Given the description of an element on the screen output the (x, y) to click on. 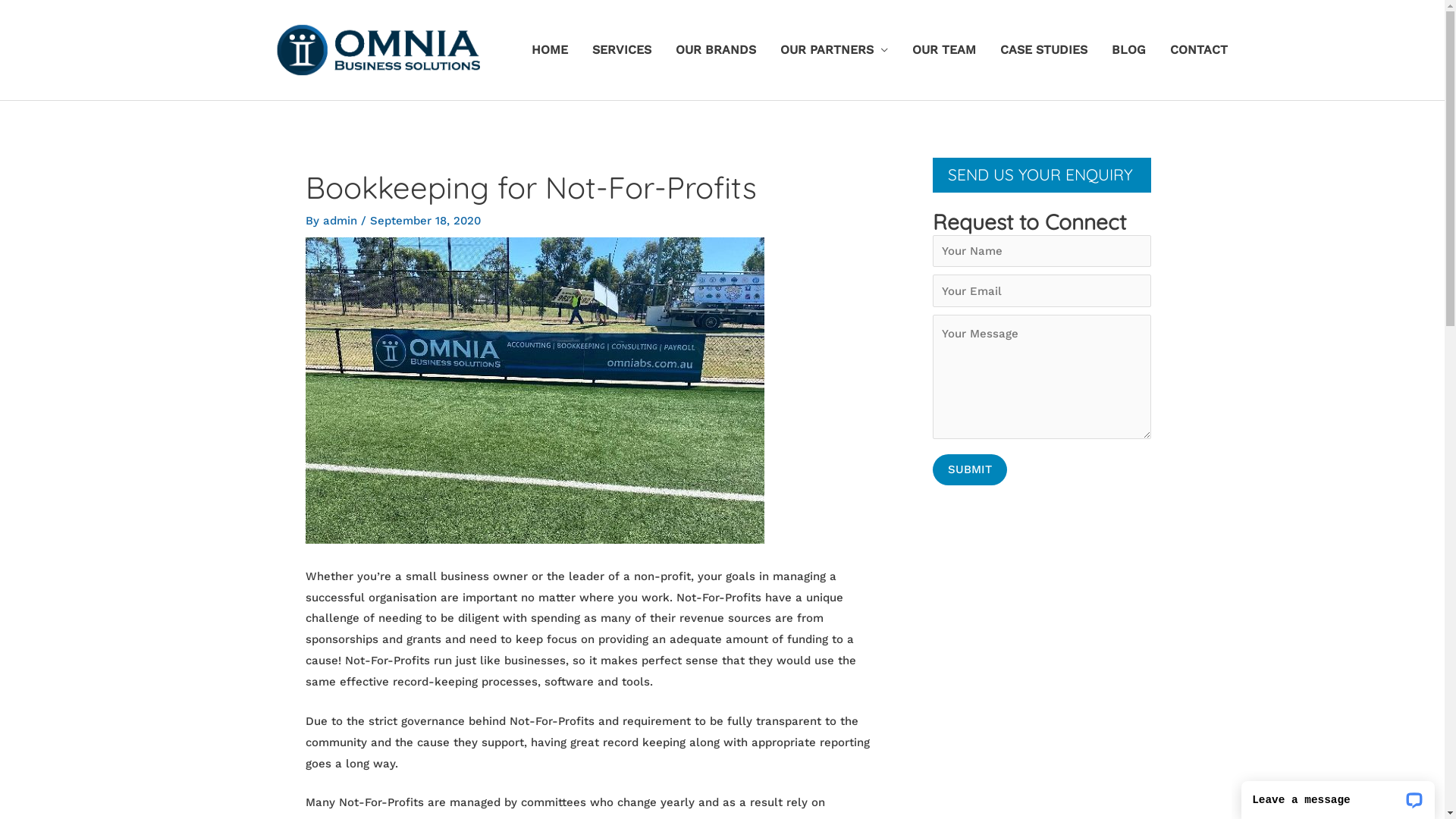
CONTACT Element type: text (1198, 49)
SERVICES Element type: text (620, 49)
OUR PARTNERS Element type: text (833, 49)
HOME Element type: text (548, 49)
OUR TEAM Element type: text (943, 49)
BLOG Element type: text (1128, 49)
admin Element type: text (341, 220)
Submit Element type: text (969, 470)
OUR BRANDS Element type: text (714, 49)
CASE STUDIES Element type: text (1042, 49)
